Given the description of an element on the screen output the (x, y) to click on. 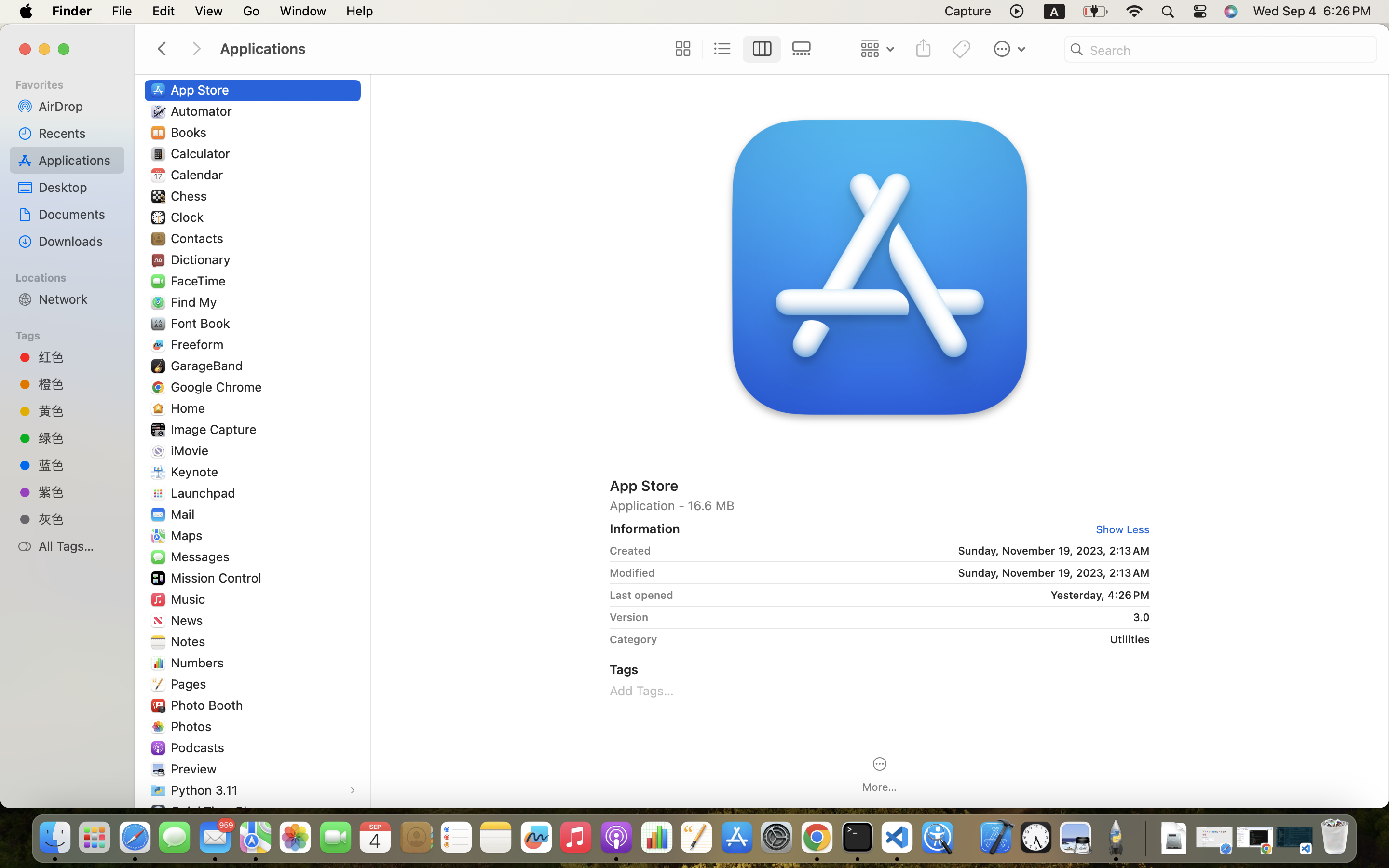
Preview Element type: AXTextField (195, 768)
GarageBand Element type: AXTextField (208, 365)
Application - 16.6 MB Element type: AXStaticText (879, 505)
0.0 Element type: AXScrollBar (427, 473)
0 Element type: AXRadioButton (680, 48)
